Given the description of an element on the screen output the (x, y) to click on. 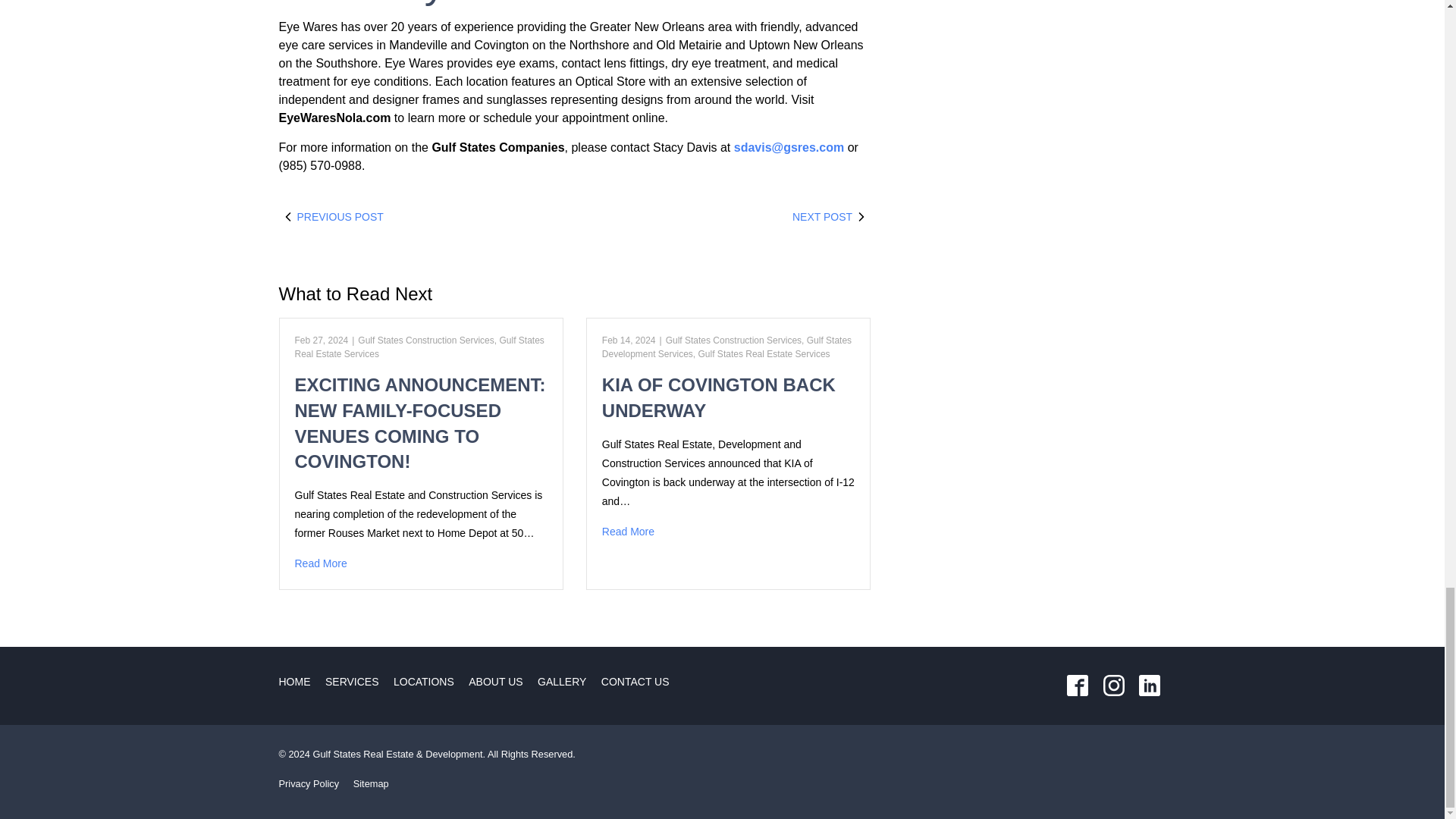
KIA of Covington Back Underway (728, 531)
linkedin (1149, 685)
PREVIOUS POST (427, 216)
instagram (1113, 685)
facebook (1077, 685)
